Given the description of an element on the screen output the (x, y) to click on. 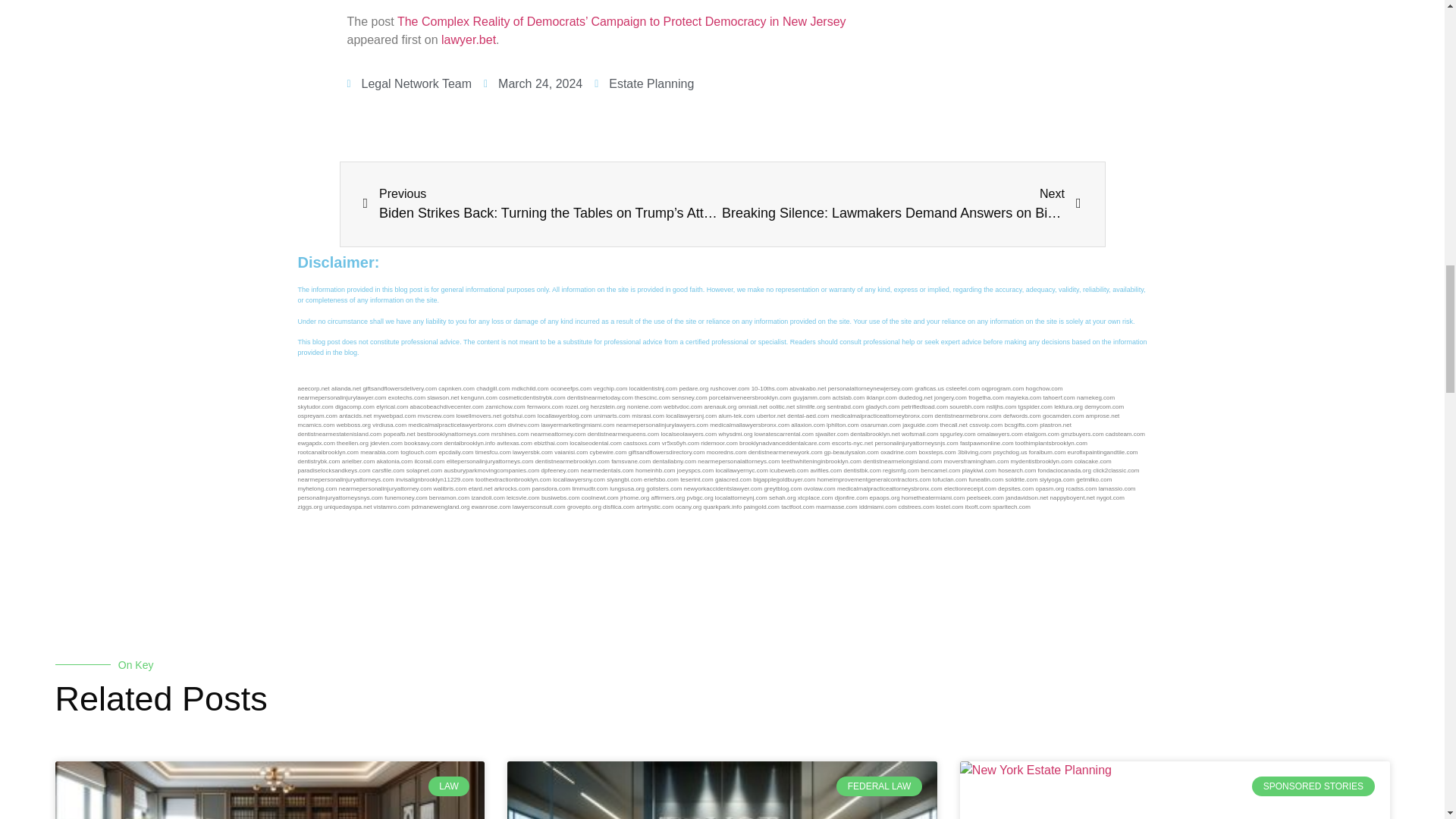
vegchip.com (609, 388)
graficas.us (928, 388)
oqprogram.com (1002, 388)
dentistnearmetoday.com (600, 397)
exotechs.com (406, 397)
alianda.net (346, 388)
lawyer.bet (468, 39)
pedare.org (692, 388)
personalattorneynewjersey.com (870, 388)
cosmeticdentistrybk.com (532, 397)
